Given the description of an element on the screen output the (x, y) to click on. 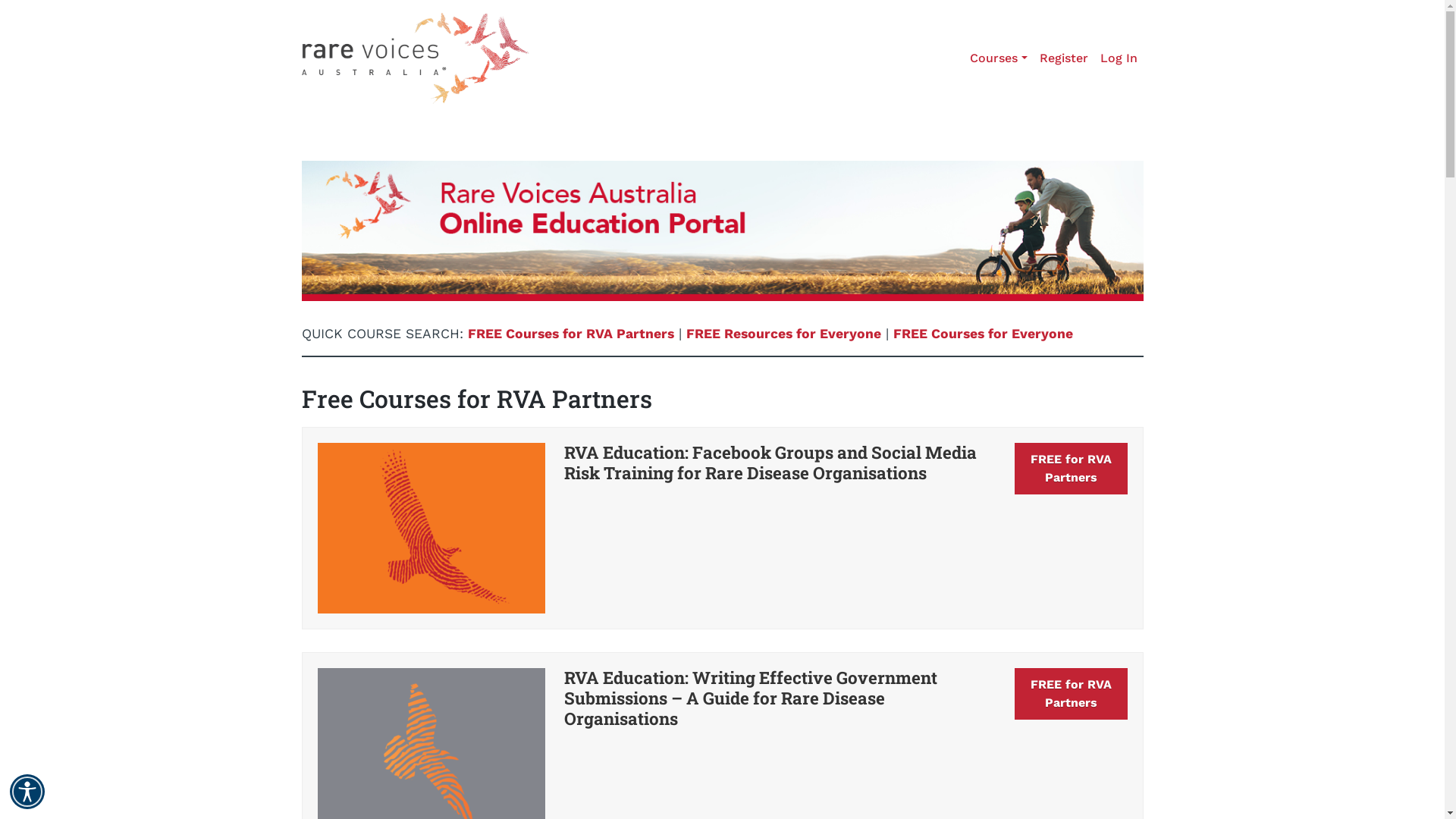
FREE Resources for Everyone Element type: text (782, 333)
Courses Element type: text (997, 58)
Log In Element type: text (1117, 58)
Register Element type: text (1062, 58)
FREE Courses for Everyone Element type: text (983, 333)
FREE Courses for RVA Partners Element type: text (570, 333)
